Given the description of an element on the screen output the (x, y) to click on. 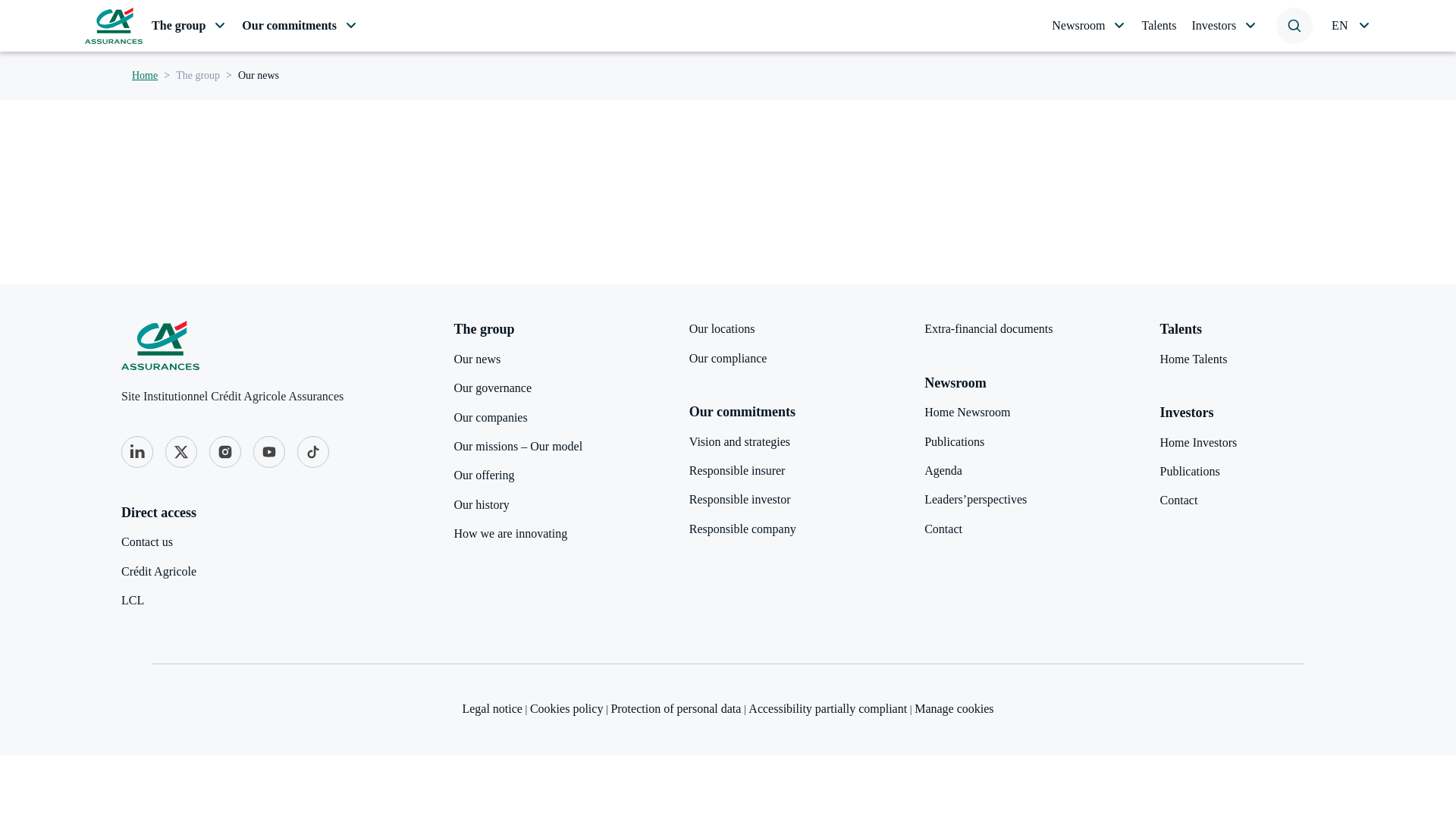
Linkedin (733, 25)
The group (137, 451)
English (189, 25)
Search (1351, 25)
Talents (1294, 25)
Twitter (1158, 25)
Newsroom (180, 451)
Investors (1088, 25)
Our commitments (1224, 25)
